Given the description of an element on the screen output the (x, y) to click on. 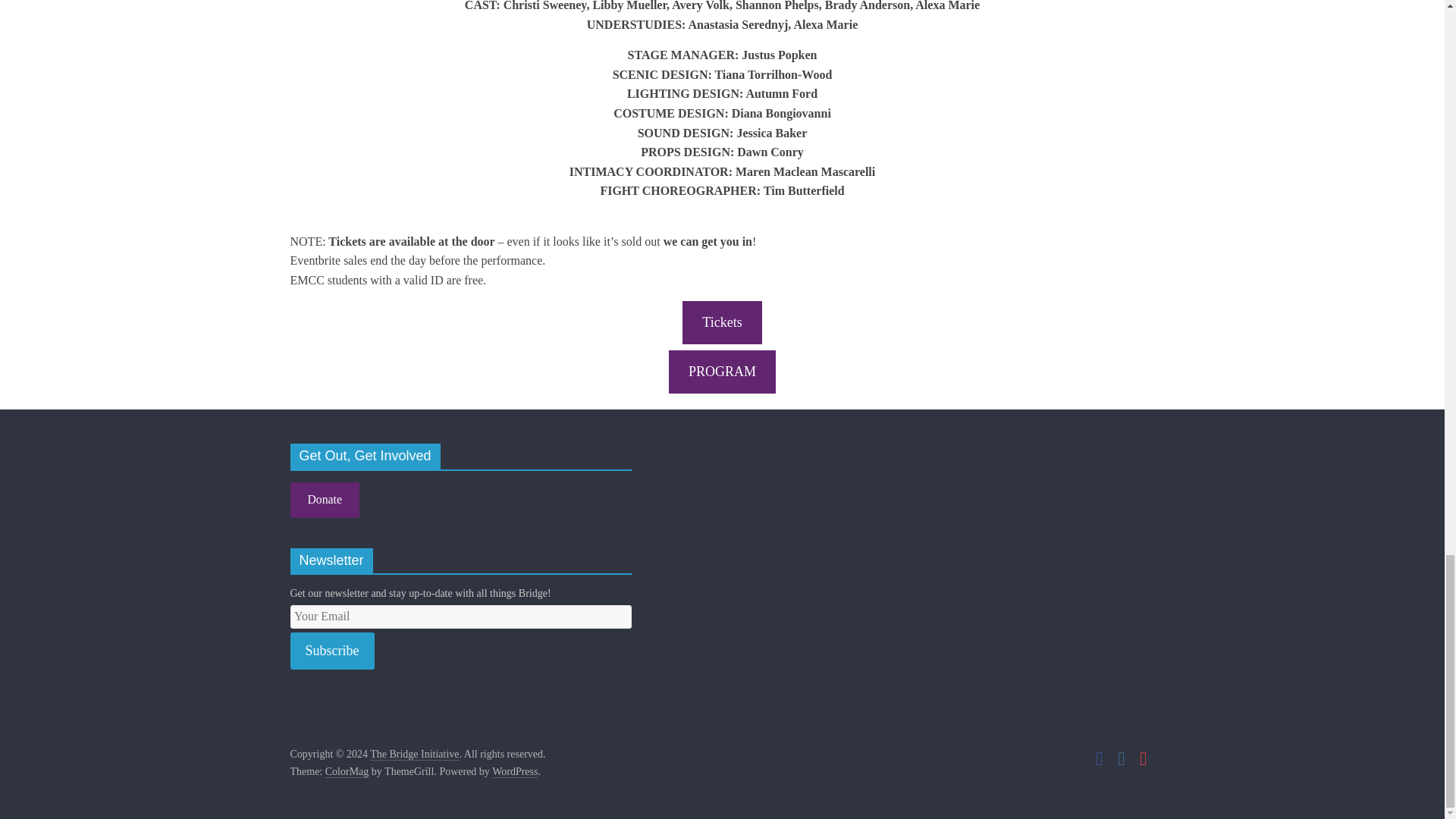
Subscribe (331, 650)
The Bridge Initiative (413, 754)
ColorMag (346, 771)
ColorMag (346, 771)
Donate (323, 499)
PROGRAM (722, 371)
The Bridge Initiative (413, 754)
WordPress (514, 771)
Subscribe (331, 650)
Tickets (721, 322)
WordPress (514, 771)
